Given the description of an element on the screen output the (x, y) to click on. 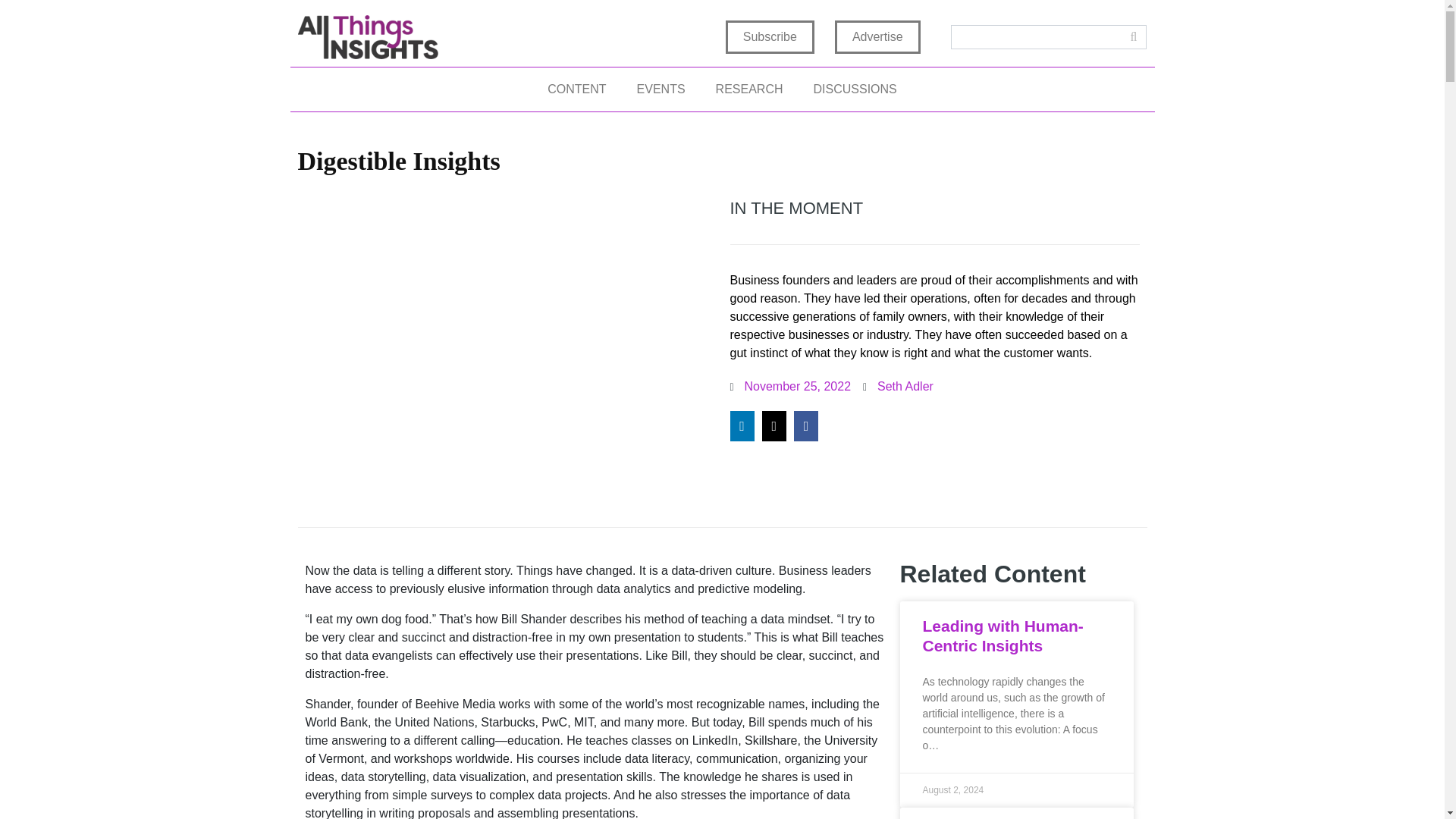
Advertise (877, 37)
Subscribe (769, 37)
Bill shander - ITM series 001 Video (509, 350)
RESEARCH (748, 89)
EVENTS (660, 89)
CONTENT (576, 89)
DISCUSSIONS (854, 89)
